Given the description of an element on the screen output the (x, y) to click on. 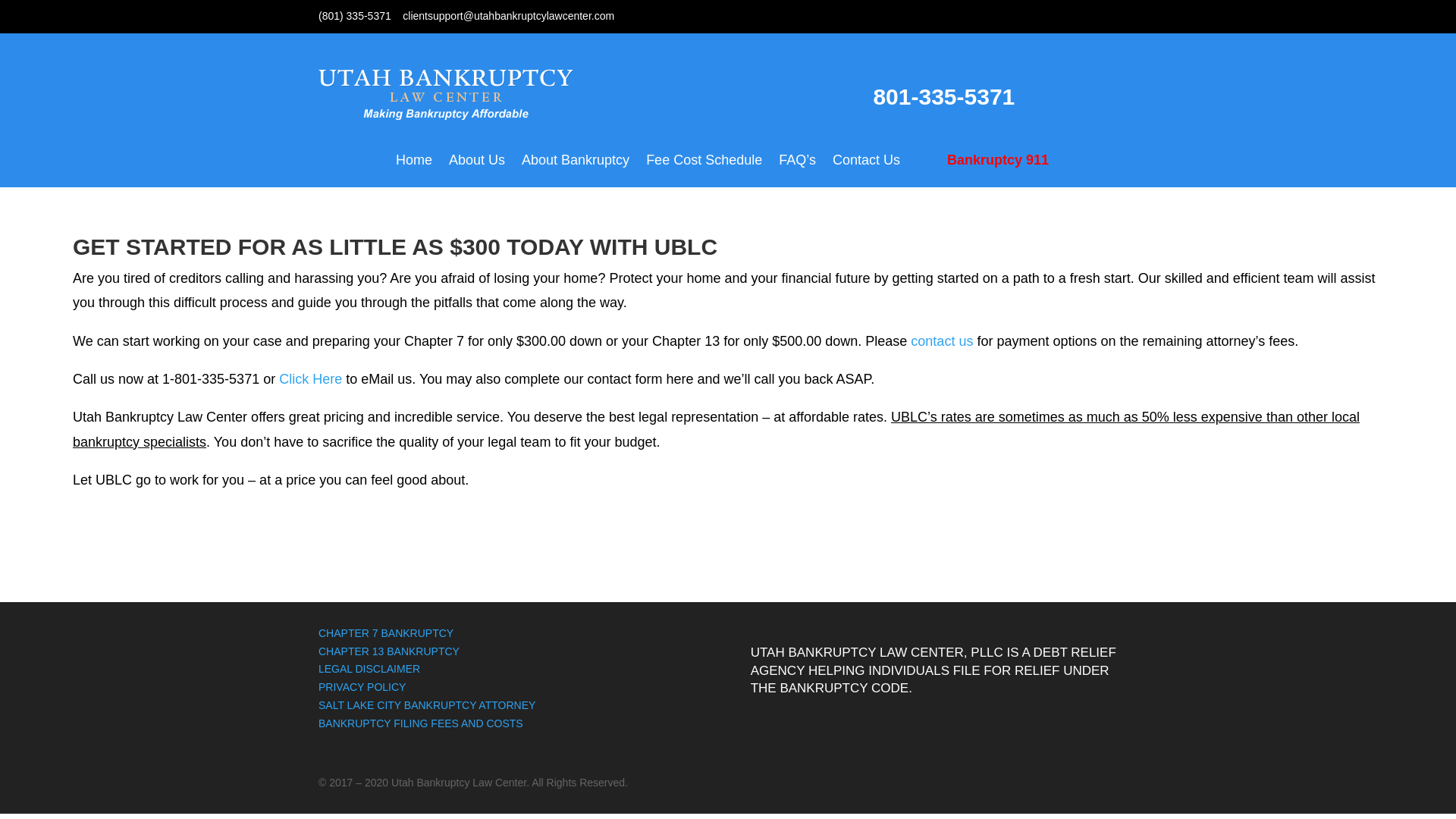
Contact Us (865, 170)
CHAPTER 13 BANKRUPTCY (389, 651)
Home (414, 170)
Bankruptcy 911 (988, 170)
About Us (476, 170)
Fee Cost Schedule (703, 170)
Click Here (310, 378)
About Bankruptcy (574, 170)
CHAPTER 7 BANKRUPTCY (385, 633)
SALT LAKE CITY BANKRUPTCY ATTORNEY (426, 705)
BANKRUPTCY FILING FEES AND COSTS (420, 723)
PRIVACY POLICY (362, 686)
contact us (941, 340)
LEGAL DISCLAIMER (389, 677)
